Given the description of an element on the screen output the (x, y) to click on. 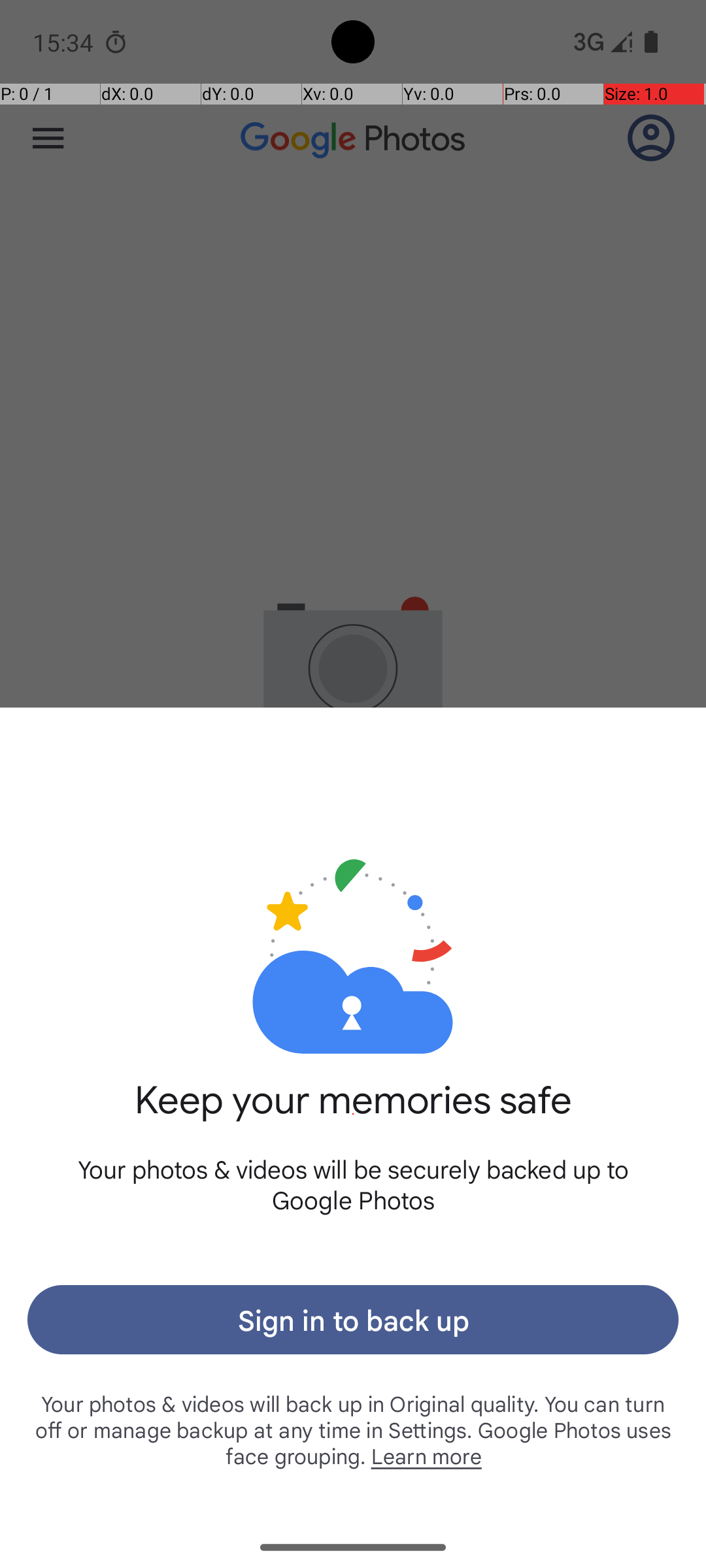
Photos and videos stored in a cloud Element type: android.widget.ImageView (352, 913)
Keep your memories safe Element type: android.widget.TextView (352, 1113)
Your photos & videos will be securely backed up to Google Photos Element type: android.widget.TextView (352, 1183)
Sign in to back up Element type: android.widget.Button (352, 1319)
Your photos & videos will back up in Original quality. You can turn off or manage backup at any time in Settings. Google Photos uses face grouping. Learn more Element type: android.widget.TextView (352, 1429)
